Given the description of an element on the screen output the (x, y) to click on. 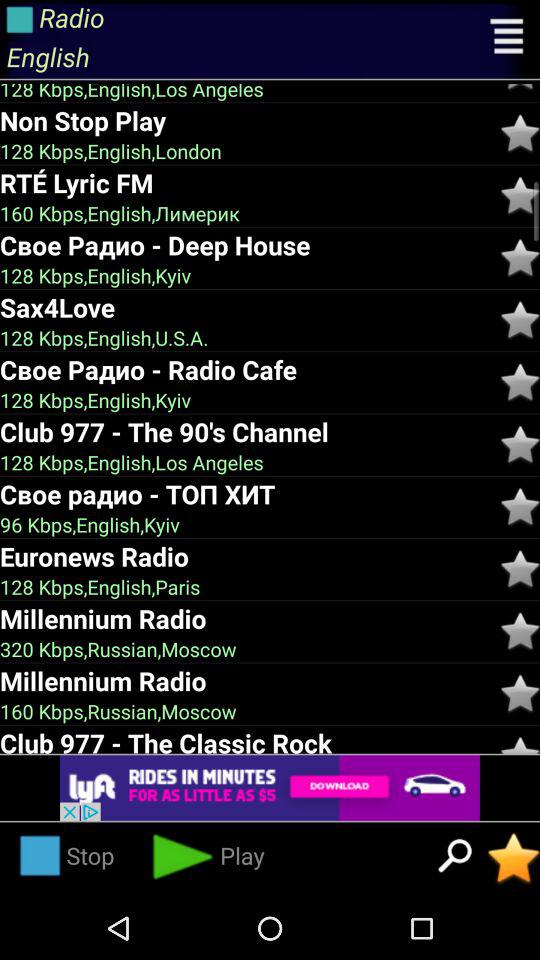
advertisement (270, 787)
